Given the description of an element on the screen output the (x, y) to click on. 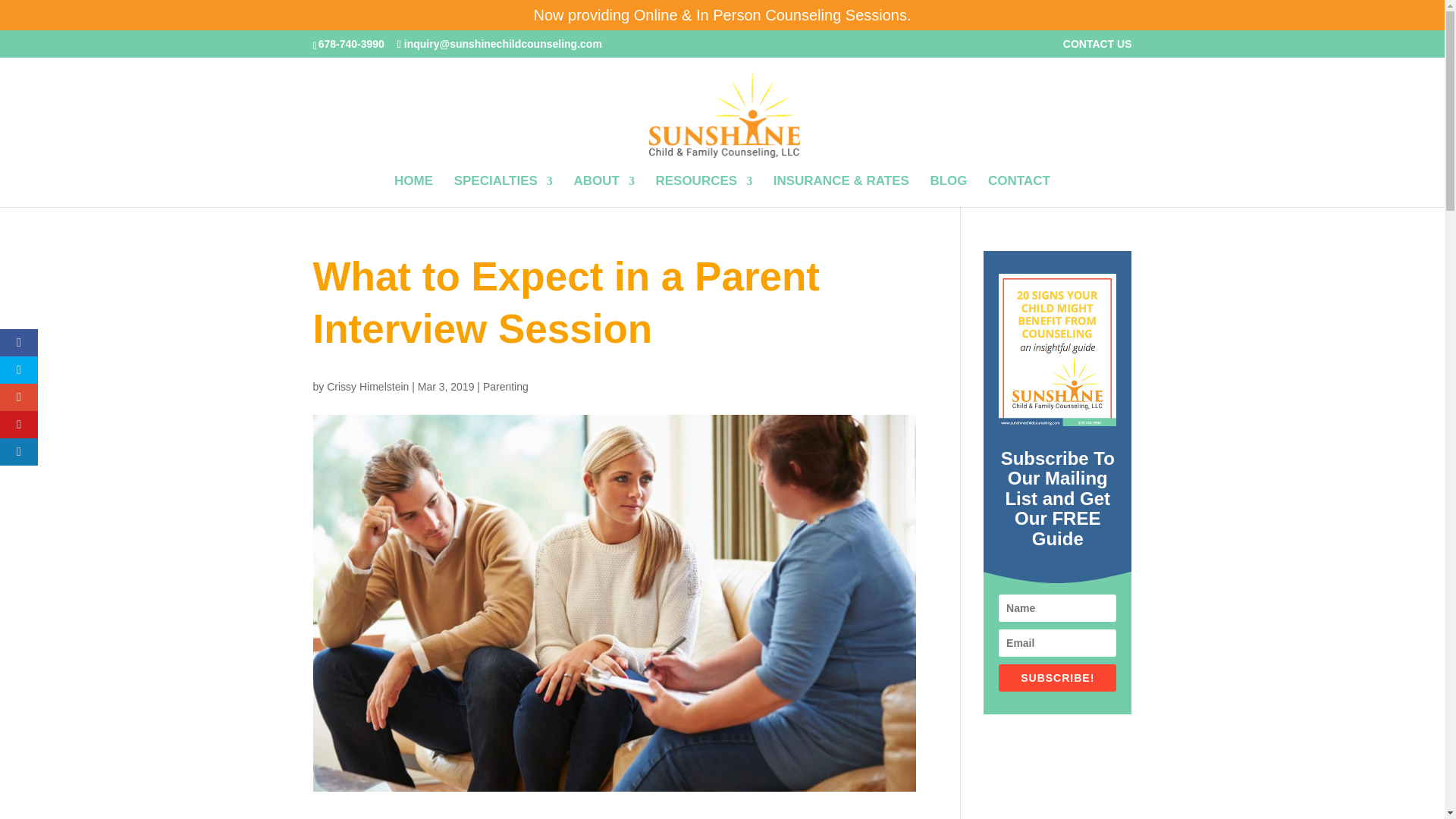
SPECIALTIES (503, 191)
CONTACT (1018, 191)
Posts by Crissy Himelstein (367, 386)
RESOURCES (703, 191)
BLOG (948, 191)
HOME (413, 191)
CONTACT US (1097, 46)
ABOUT (603, 191)
